Given the description of an element on the screen output the (x, y) to click on. 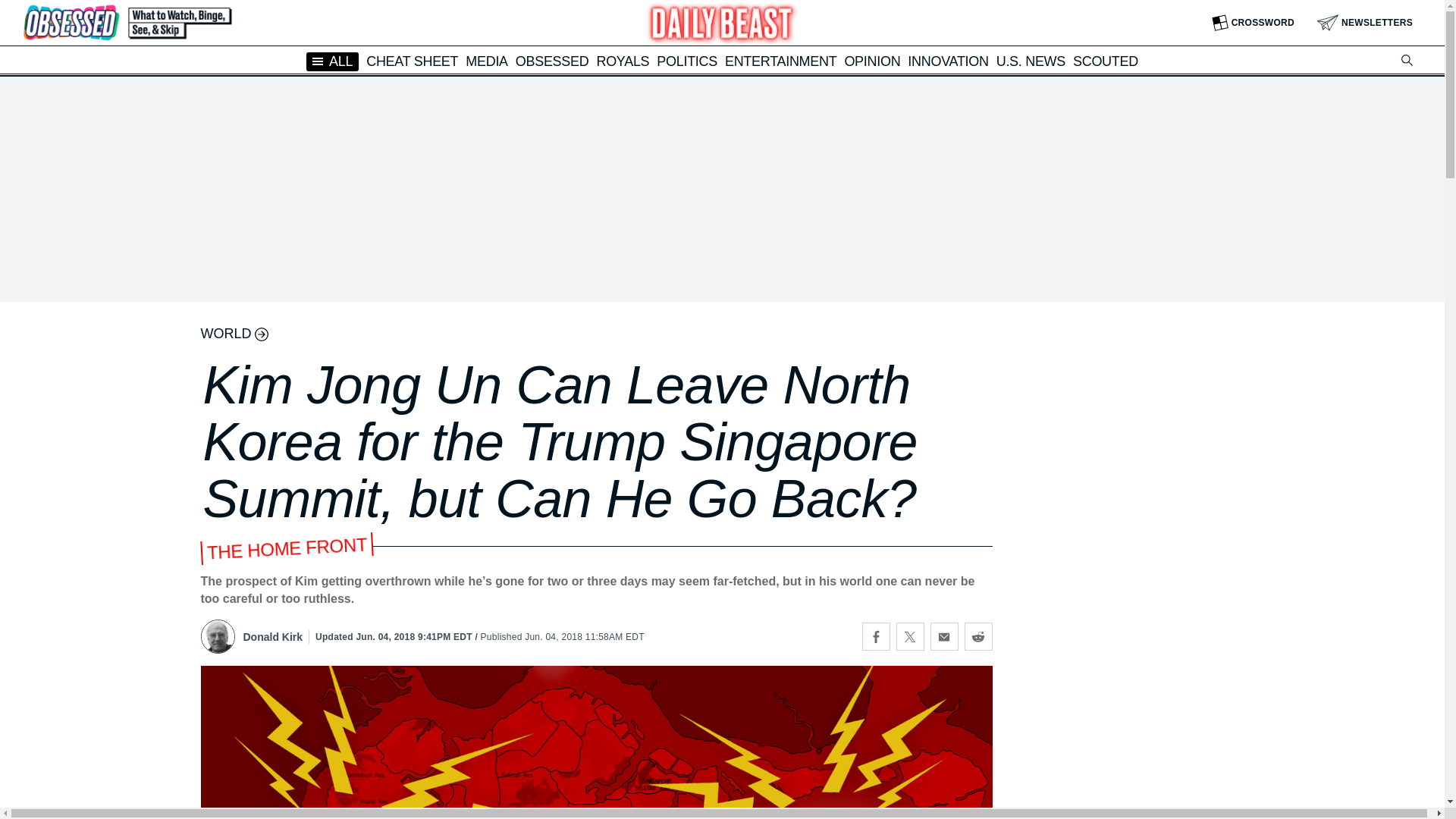
ALL (331, 60)
INNOVATION (947, 60)
OBSESSED (552, 60)
ROYALS (622, 60)
U.S. NEWS (1030, 60)
ENTERTAINMENT (780, 60)
MEDIA (486, 60)
SCOUTED (1105, 60)
CROSSWORD (1252, 22)
POLITICS (686, 60)
NEWSLETTERS (1364, 22)
CHEAT SHEET (412, 60)
OPINION (871, 60)
